Given the description of an element on the screen output the (x, y) to click on. 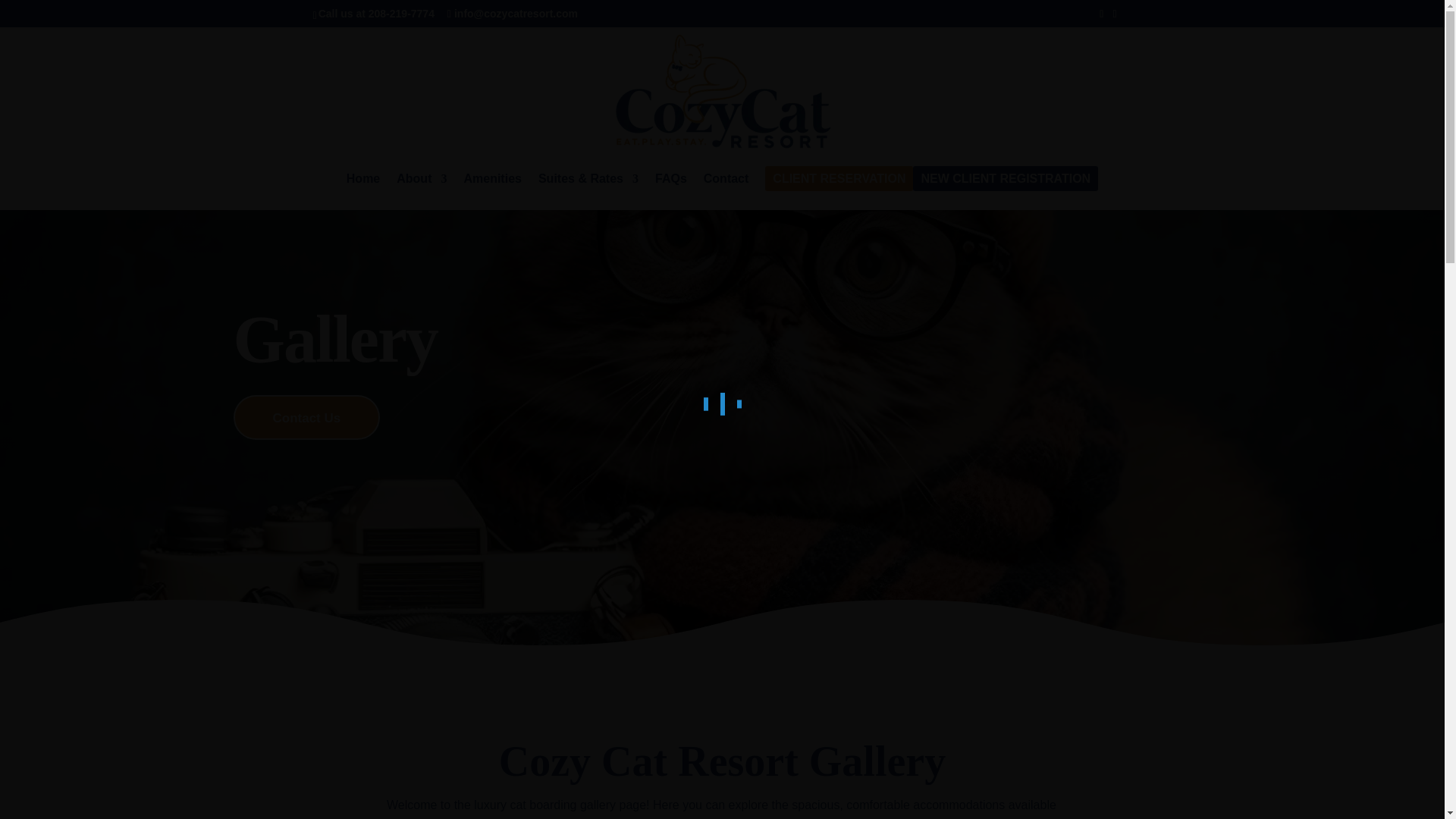
Home (363, 191)
About (421, 191)
NEW CLIENT REGISTRATION (1005, 191)
Contact (726, 191)
Amenities (492, 191)
CLIENT RESERVATION (839, 191)
Accessibility Tools (19, 95)
Accessibility Tools (19, 95)
Call us at 208-219-7774 (375, 13)
